Given the description of an element on the screen output the (x, y) to click on. 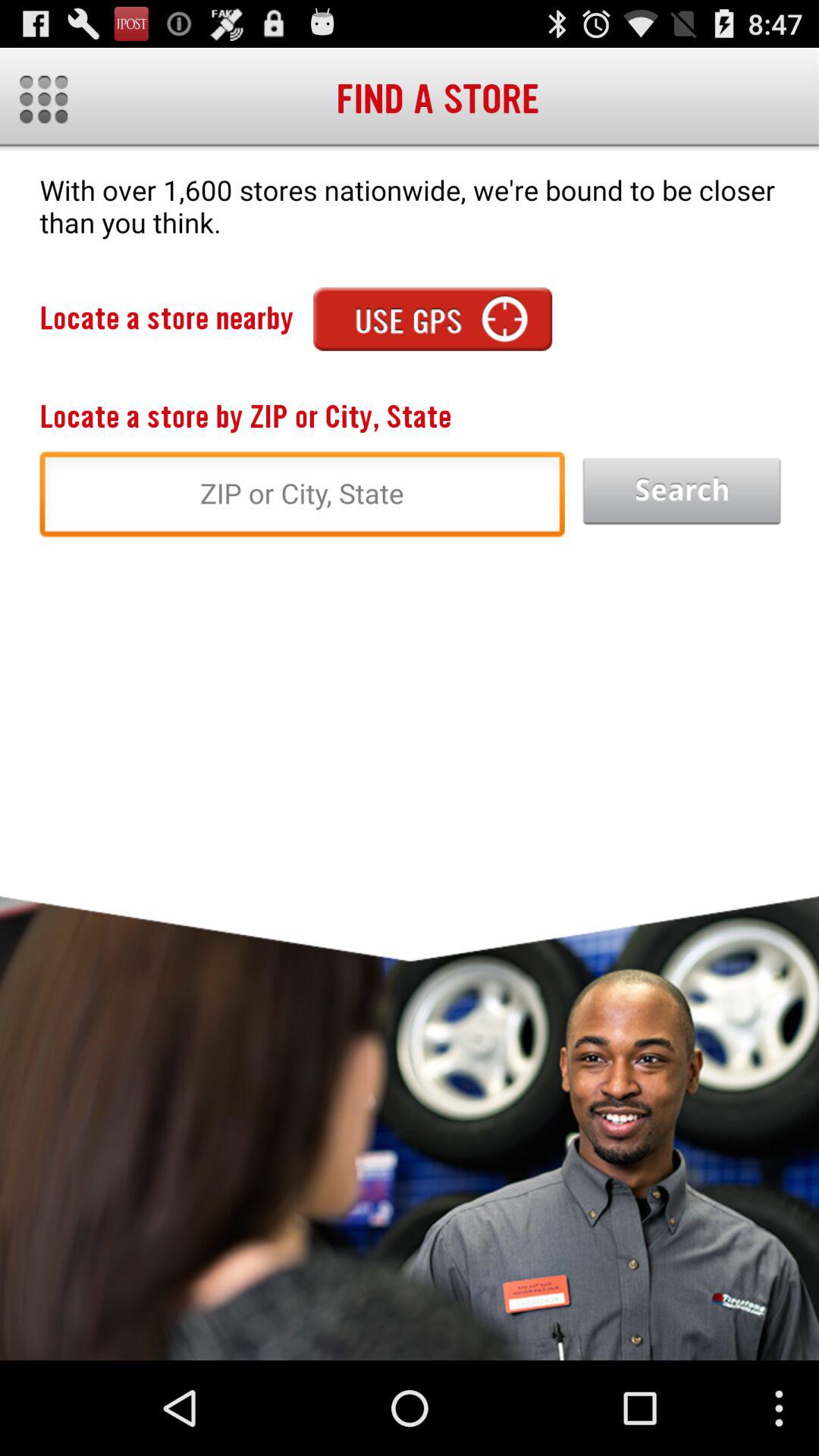
navigate the nearby location using gps (432, 318)
